Given the description of an element on the screen output the (x, y) to click on. 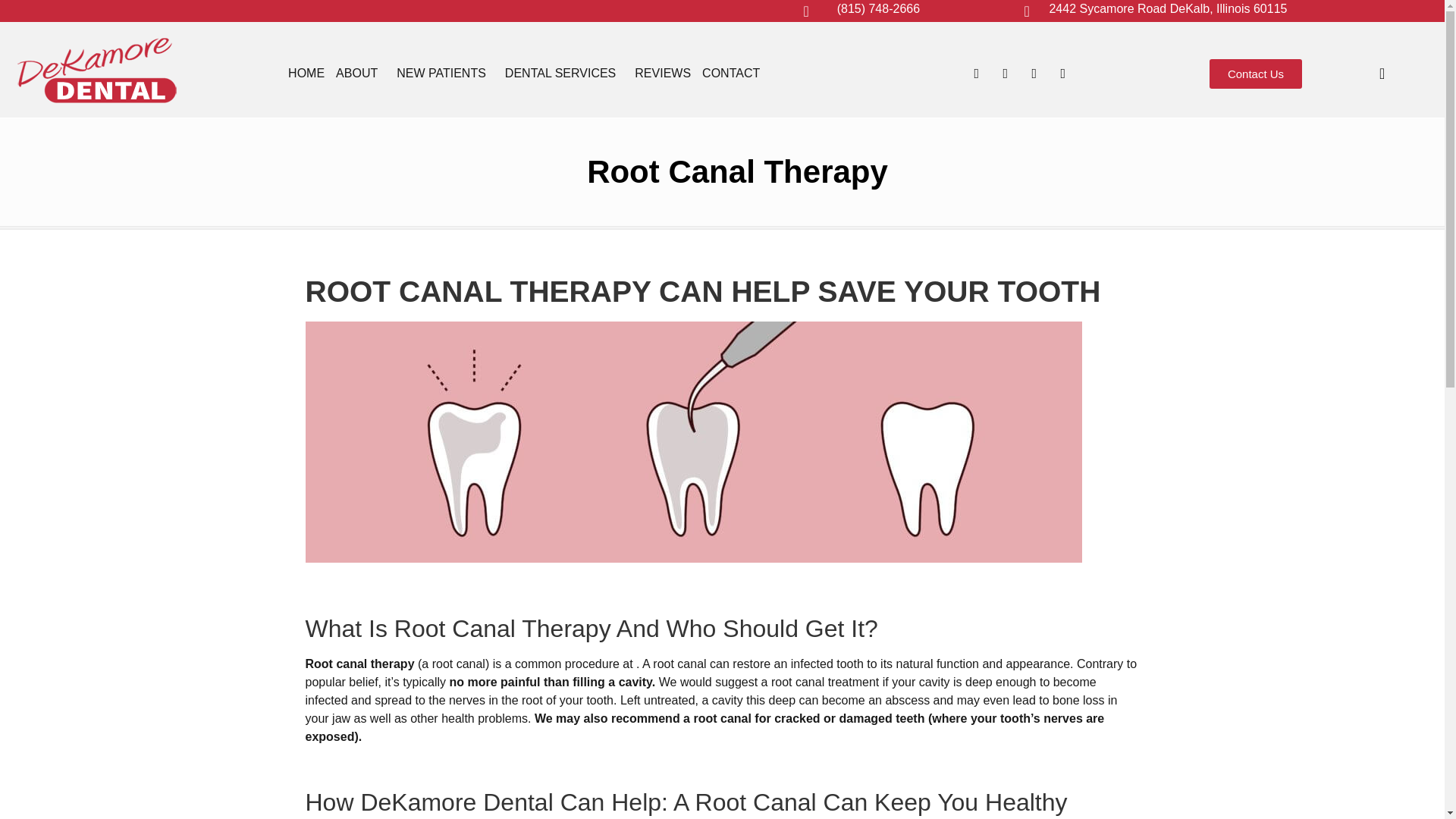
HOME (306, 73)
NEW PATIENTS (444, 73)
ABOUT (360, 73)
DENTAL SERVICES (564, 73)
